Given the description of an element on the screen output the (x, y) to click on. 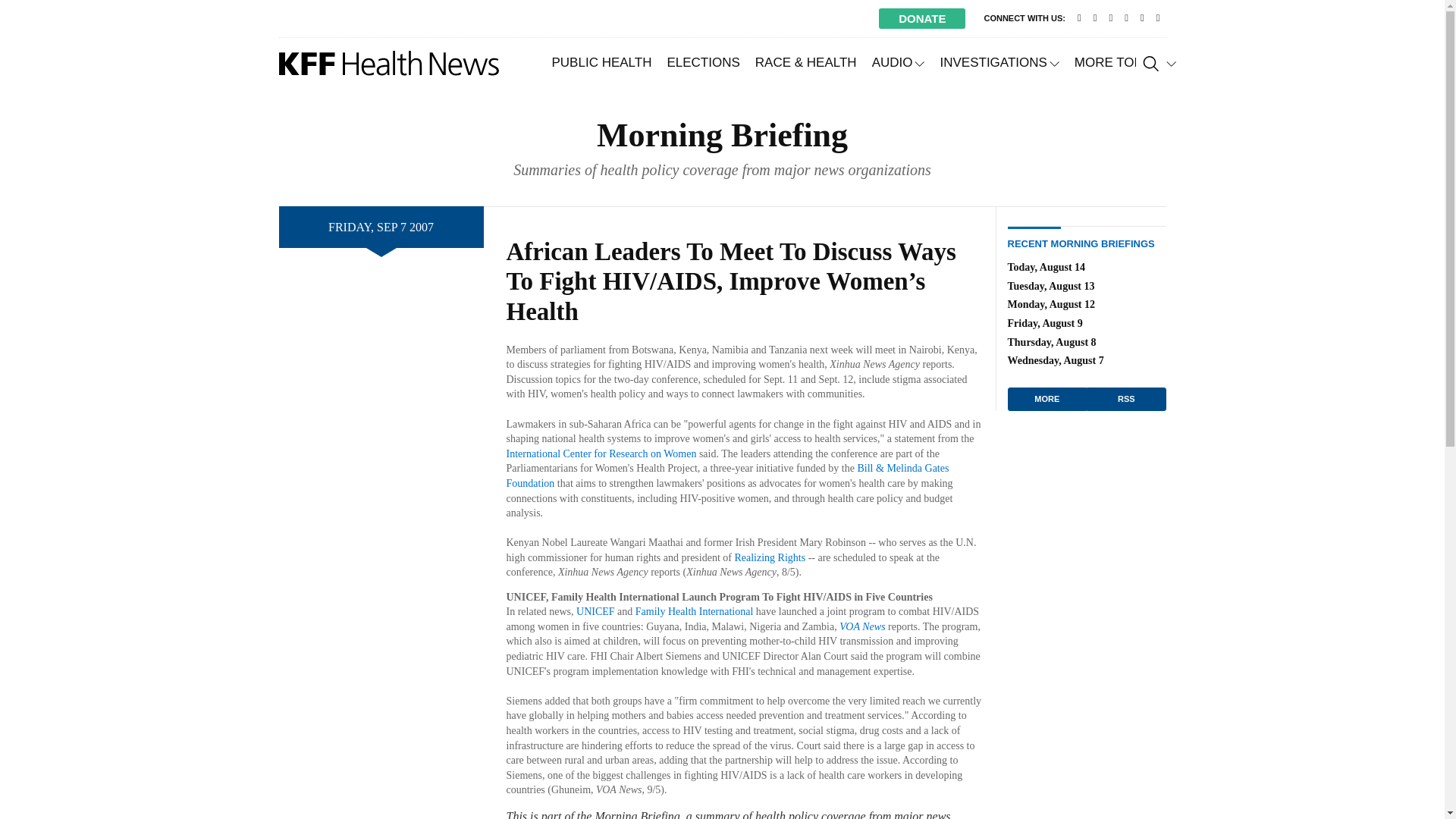
DONATE (922, 18)
AUDIO (898, 61)
INVESTIGATIONS (998, 61)
ELECTIONS (702, 61)
PUBLIC HEALTH (601, 61)
MORE TOPICS (1125, 61)
KFF Health News (389, 63)
